Given the description of an element on the screen output the (x, y) to click on. 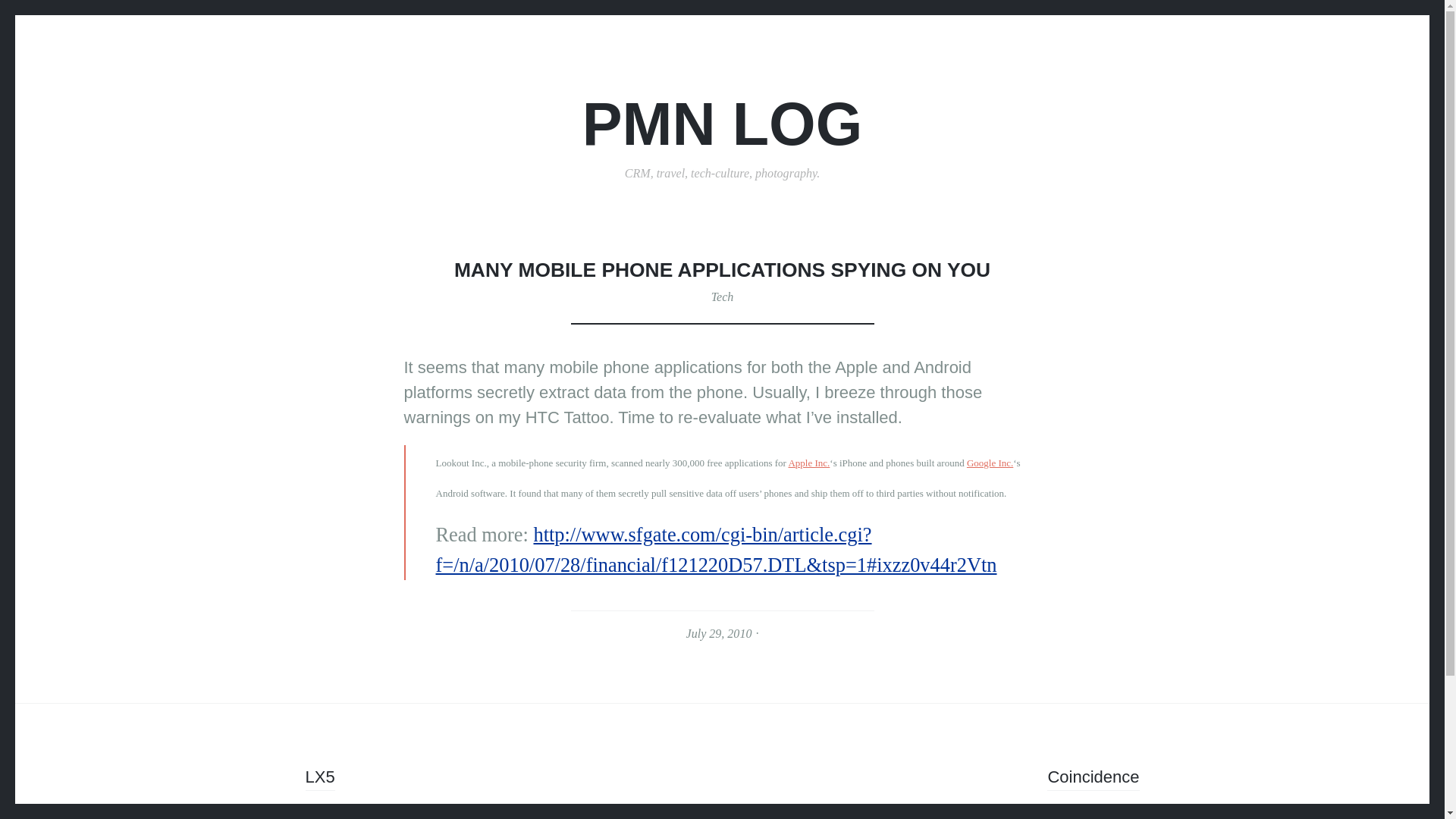
Apple Inc. (808, 462)
LX5 (319, 779)
Coincidence (1092, 779)
Google Inc. (989, 462)
July 29, 2010 (718, 633)
Tech (722, 296)
PMN LOG (722, 123)
